Given the description of an element on the screen output the (x, y) to click on. 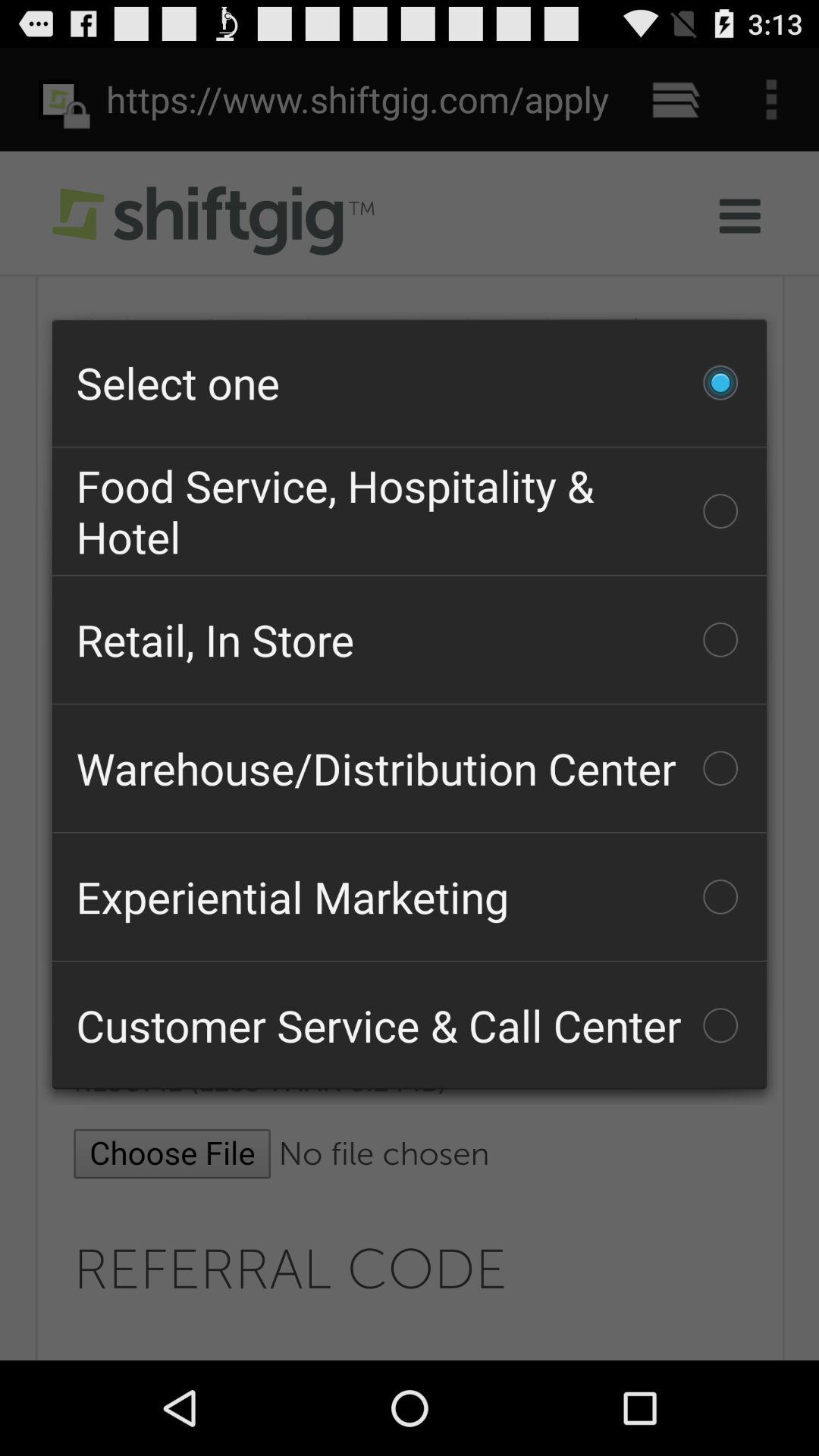
select icon below experiential marketing item (409, 1025)
